Given the description of an element on the screen output the (x, y) to click on. 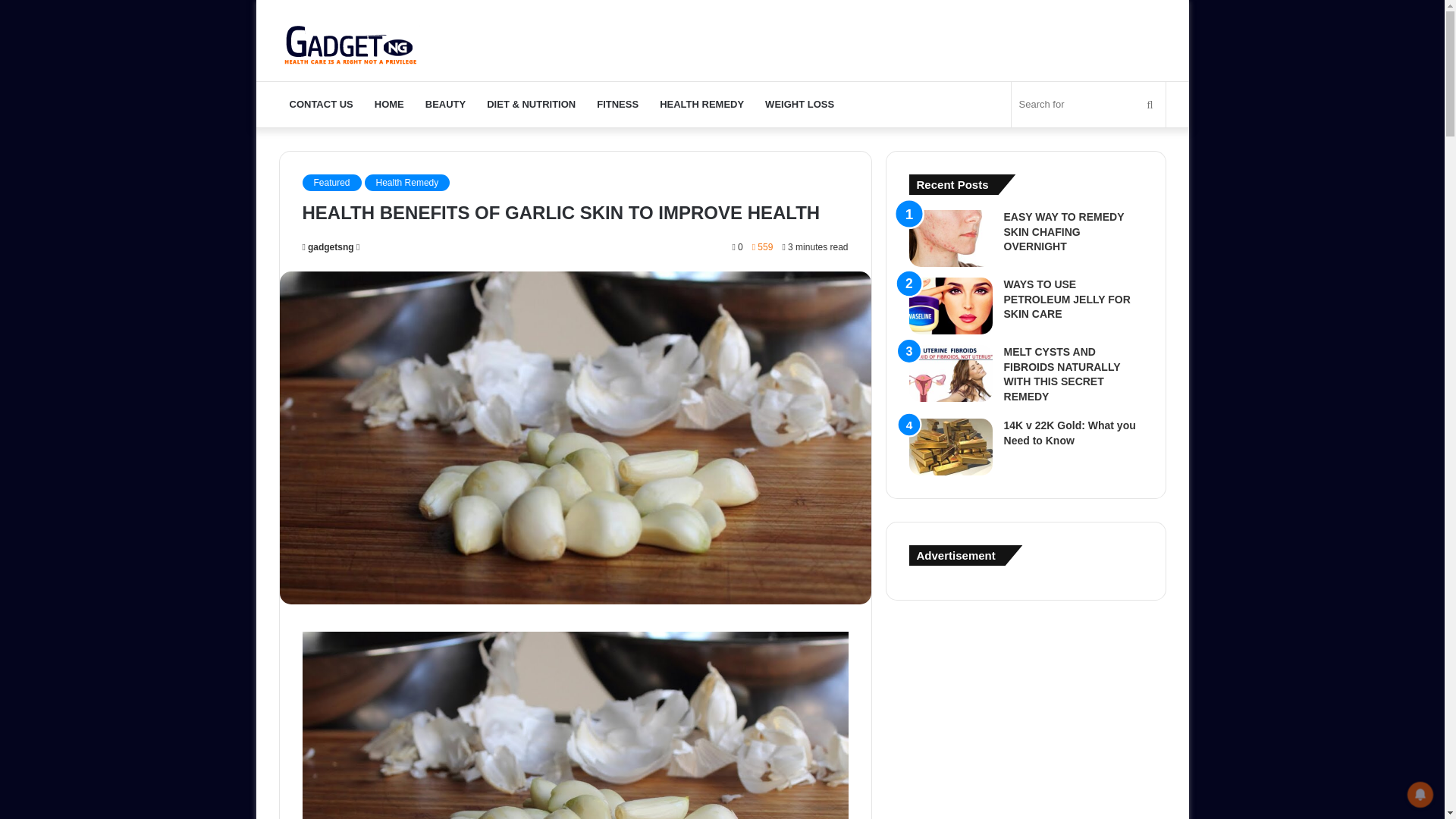
gadgetsng (327, 246)
CONTACT US (321, 104)
gadgetsng (327, 246)
WEIGHT LOSS (799, 104)
Featured (331, 182)
Health GadgetsNG (351, 40)
FITNESS (617, 104)
HOME (389, 104)
HEALTH REMEDY (701, 104)
Search for (1088, 104)
Health Remedy (407, 182)
BEAUTY (445, 104)
